Given the description of an element on the screen output the (x, y) to click on. 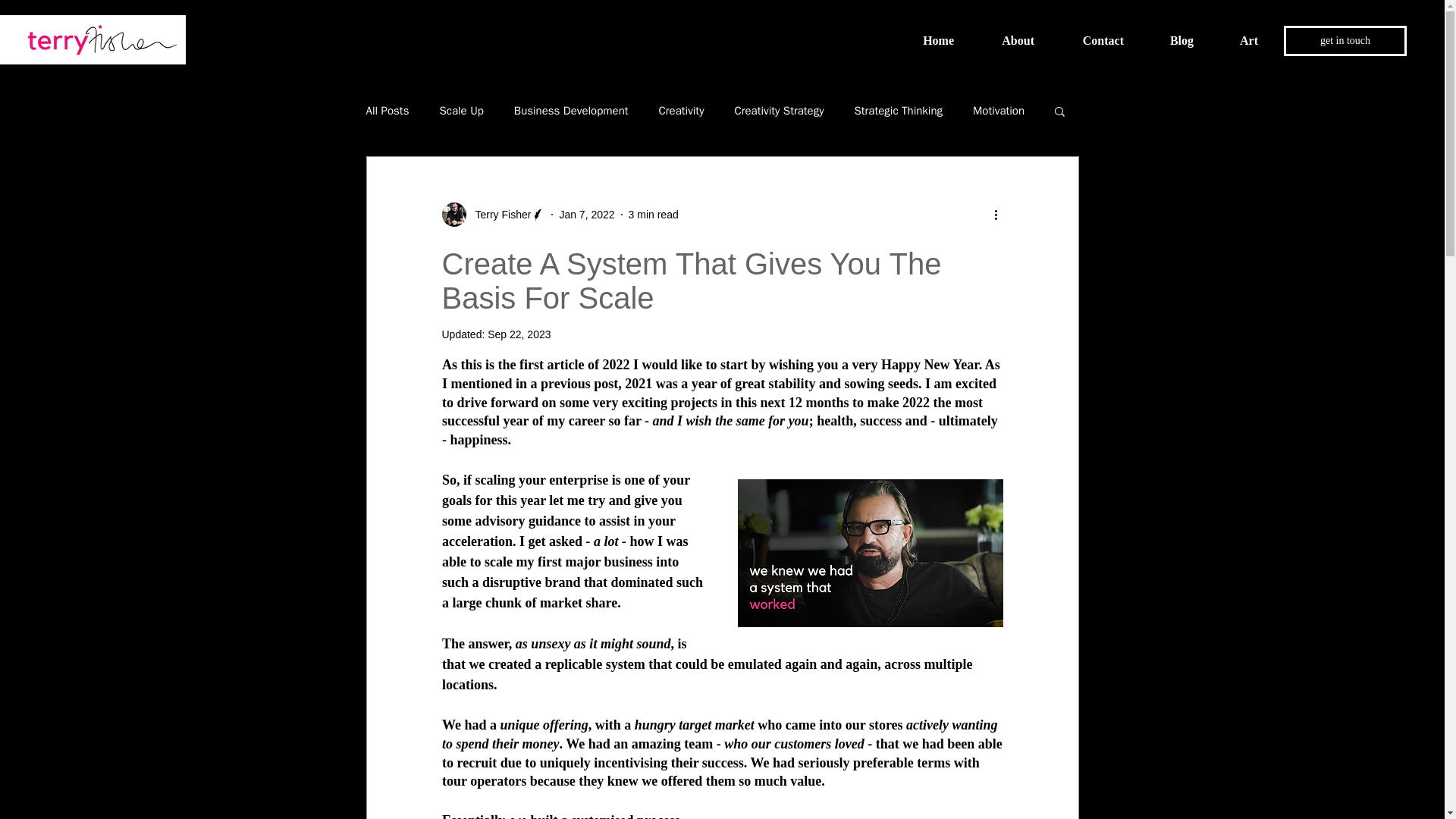
Creativity (681, 110)
Art (1237, 40)
Business Development (570, 110)
Terry Fisher (498, 213)
All Posts (387, 110)
Contact (1090, 40)
Creativity Strategy (778, 110)
Strategic Thinking (897, 110)
About (1005, 40)
3 min read (653, 214)
Sep 22, 2023 (518, 334)
Jan 7, 2022 (586, 214)
Blog (1170, 40)
Motivation (998, 110)
Scale Up (461, 110)
